Given the description of an element on the screen output the (x, y) to click on. 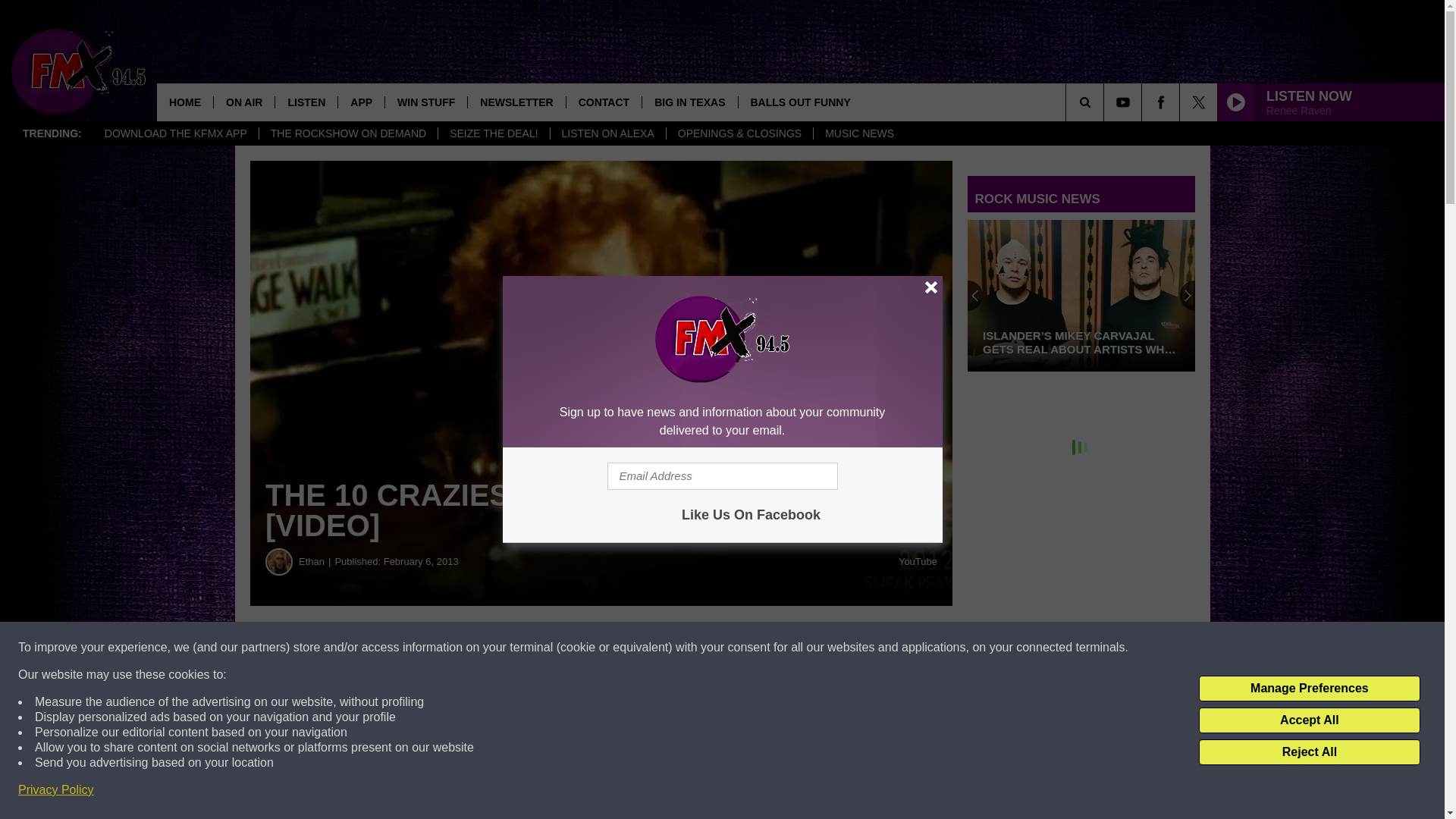
MUSIC NEWS (858, 133)
Reject All (1309, 751)
HOME (184, 102)
APP (360, 102)
DOWNLOAD THE KFMX APP (176, 133)
SEARCH (1106, 102)
Manage Preferences (1309, 688)
SEIZE THE DEAL! (493, 133)
Privacy Policy (55, 789)
LISTEN ON ALEXA (607, 133)
SEARCH (1106, 102)
THE ROCKSHOW ON DEMAND (348, 133)
LISTEN (306, 102)
WIN STUFF (425, 102)
Share on Twitter (741, 647)
